Given the description of an element on the screen output the (x, y) to click on. 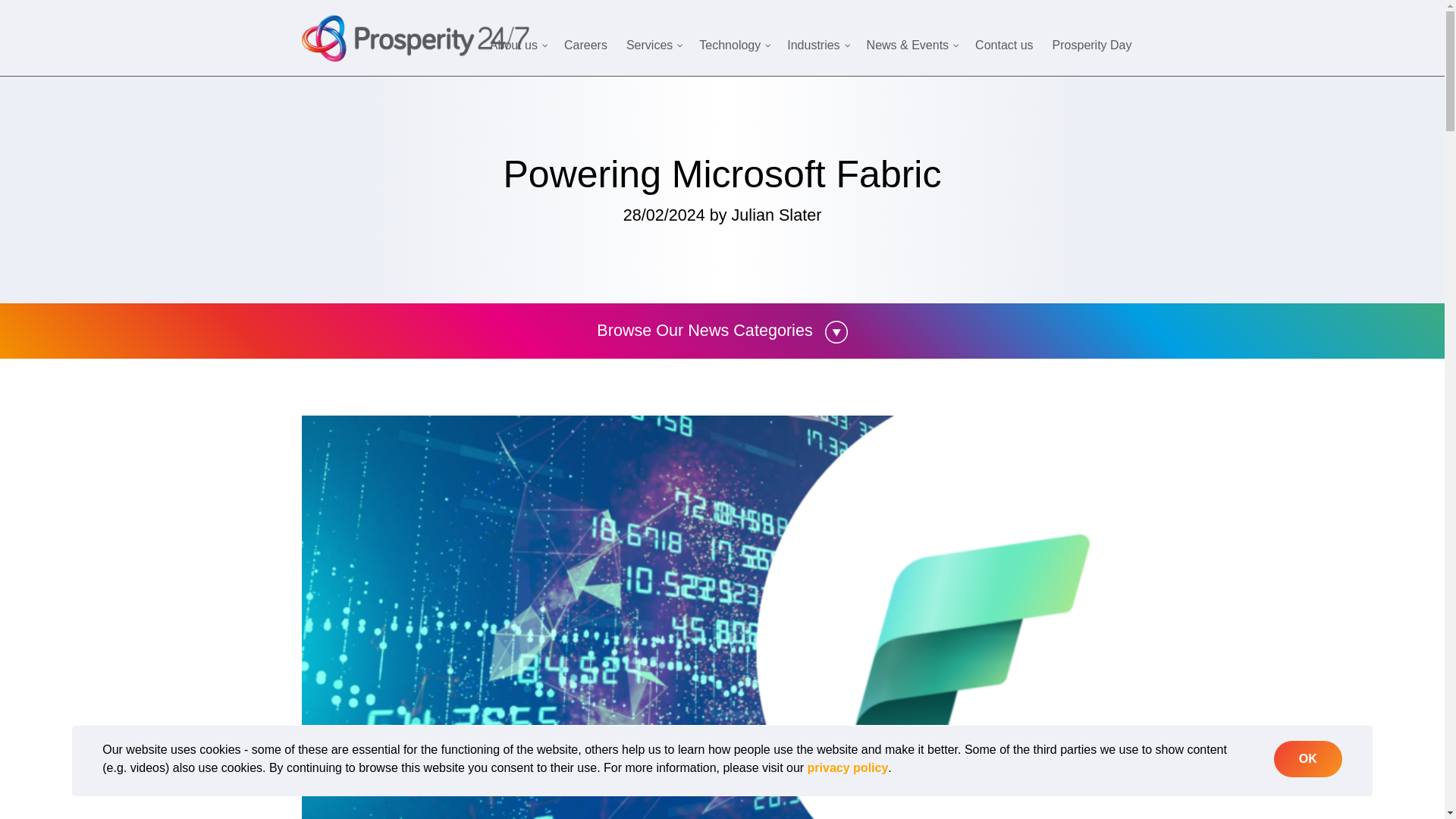
Technology (734, 44)
Services (654, 44)
Careers (587, 44)
About us (518, 44)
